Given the description of an element on the screen output the (x, y) to click on. 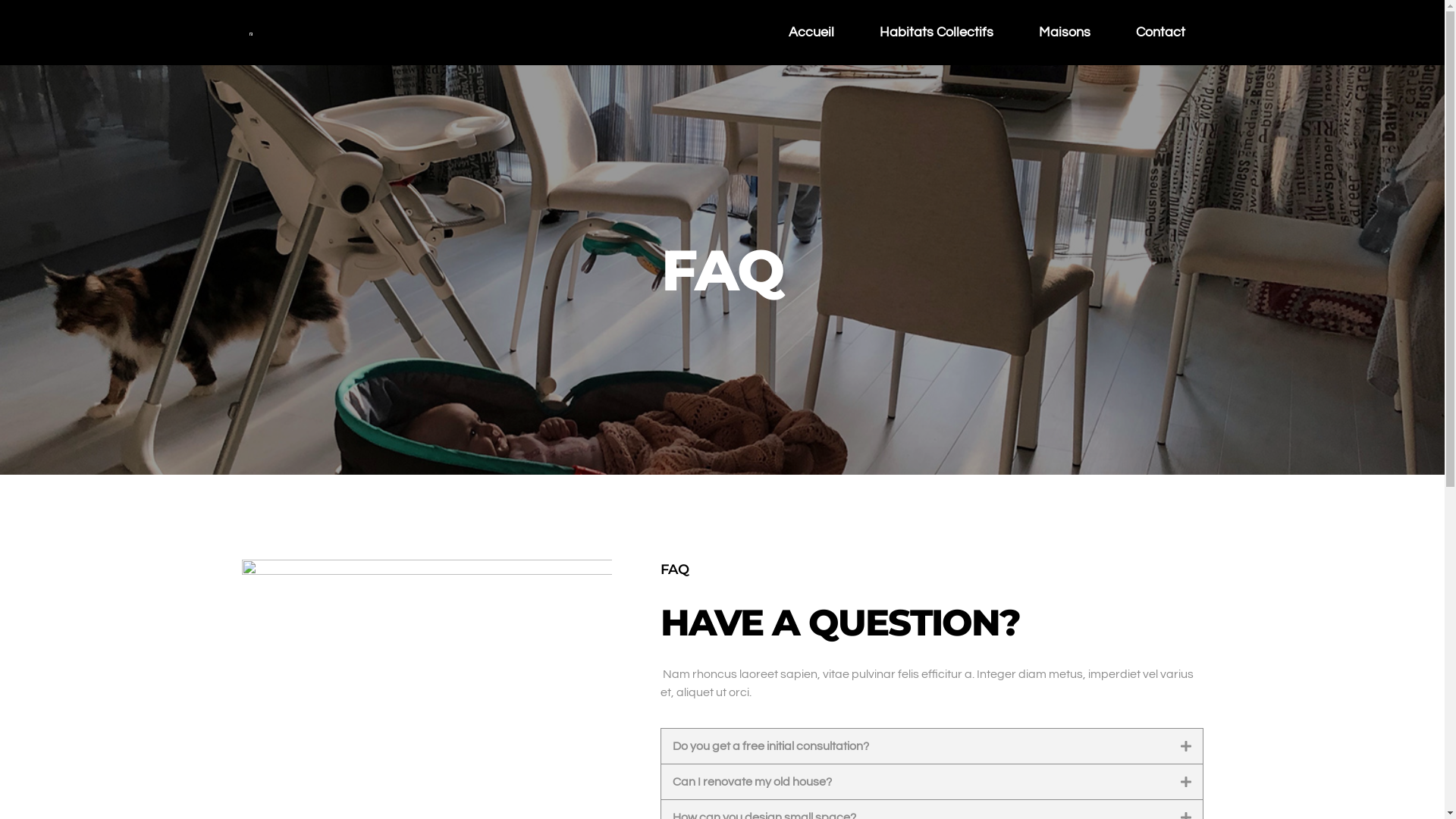
Maisons Element type: text (1064, 32)
Habitats Collectifs Element type: text (936, 32)
Contact Element type: text (1160, 32)
Can I renovate my old house? Element type: text (751, 781)
Accueil Element type: text (810, 32)
Do you get a free initial consultation? Element type: text (769, 746)
